Given the description of an element on the screen output the (x, y) to click on. 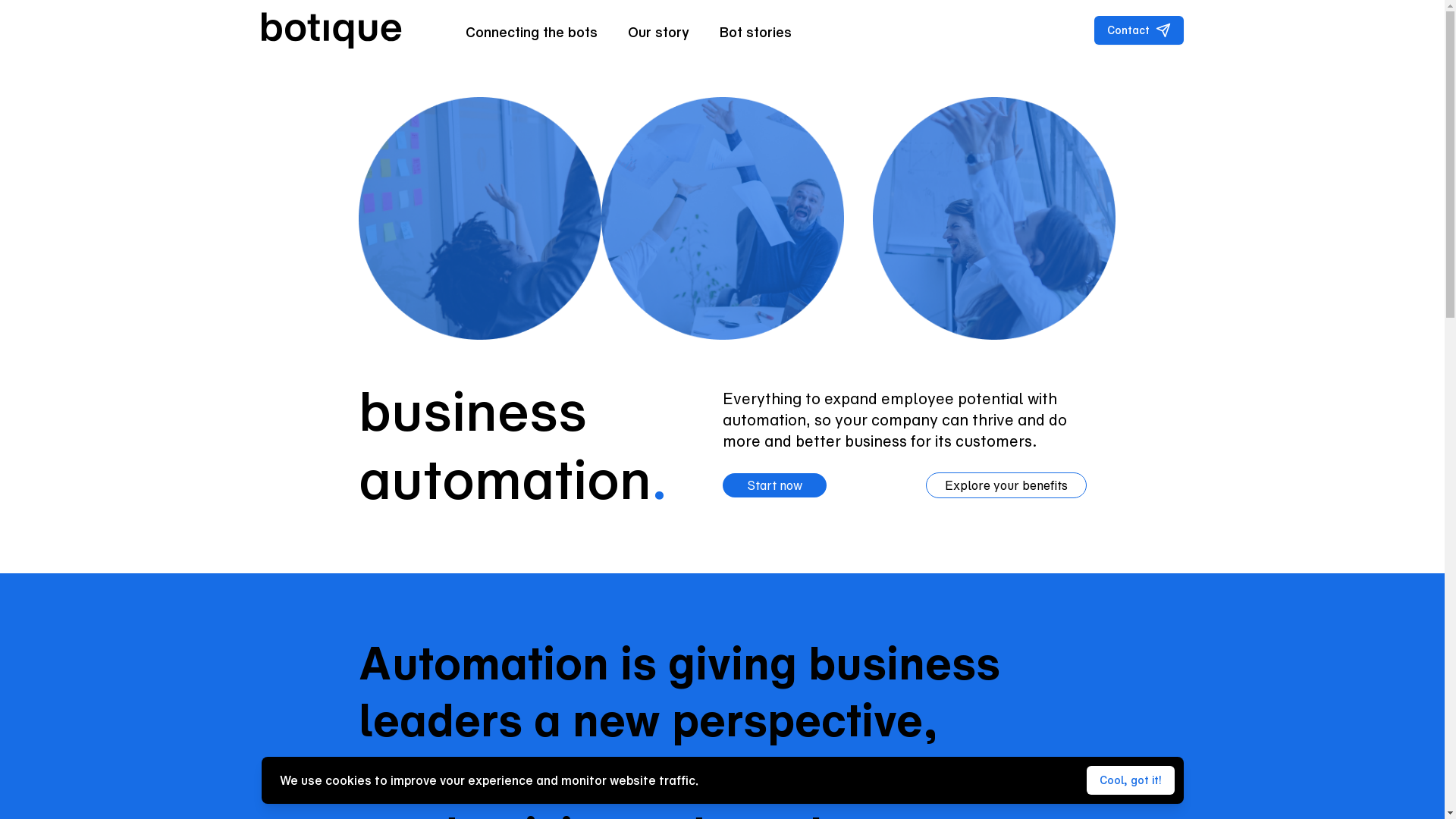
Explore your benefits Element type: text (1005, 485)
Start now Element type: text (773, 485)
Cool, got it! Element type: text (1129, 779)
Our story Element type: text (658, 30)
Contact Element type: text (1138, 29)
Bot stories Element type: text (755, 30)
Botique Element type: hover (330, 30)
Connecting the bots Element type: text (531, 30)
